Given the description of an element on the screen output the (x, y) to click on. 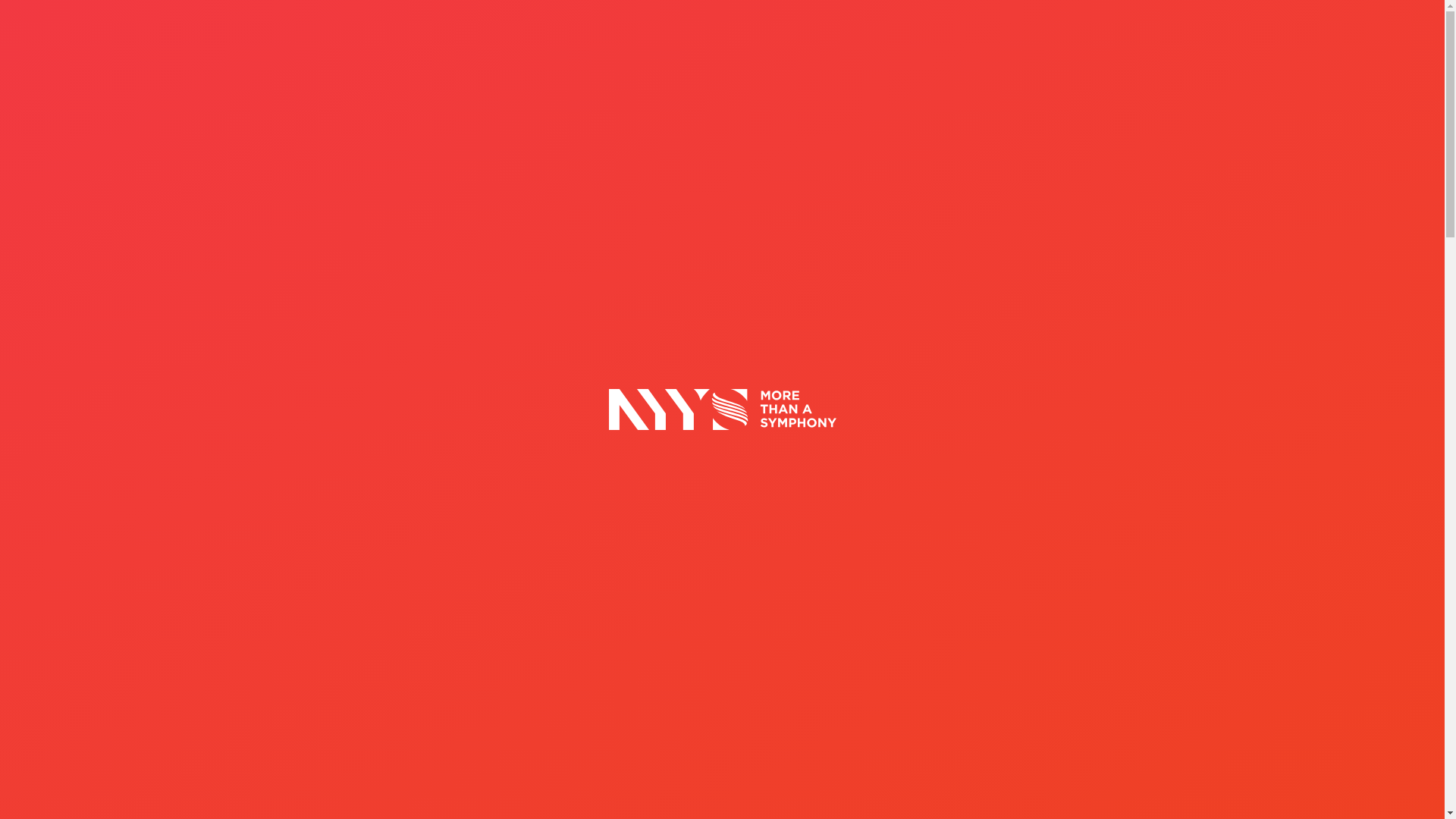
Community (680, 256)
Success Stories (1049, 123)
Apply (1337, 124)
Alumni Network (775, 256)
STORE (1235, 70)
DONATE (1289, 70)
Community (1163, 123)
Home (616, 256)
ORCHESTRA (471, 662)
ABOUT (1138, 70)
Programs (841, 123)
Events (1249, 123)
MEDIA (1187, 70)
Experience (936, 123)
